Given the description of an element on the screen output the (x, y) to click on. 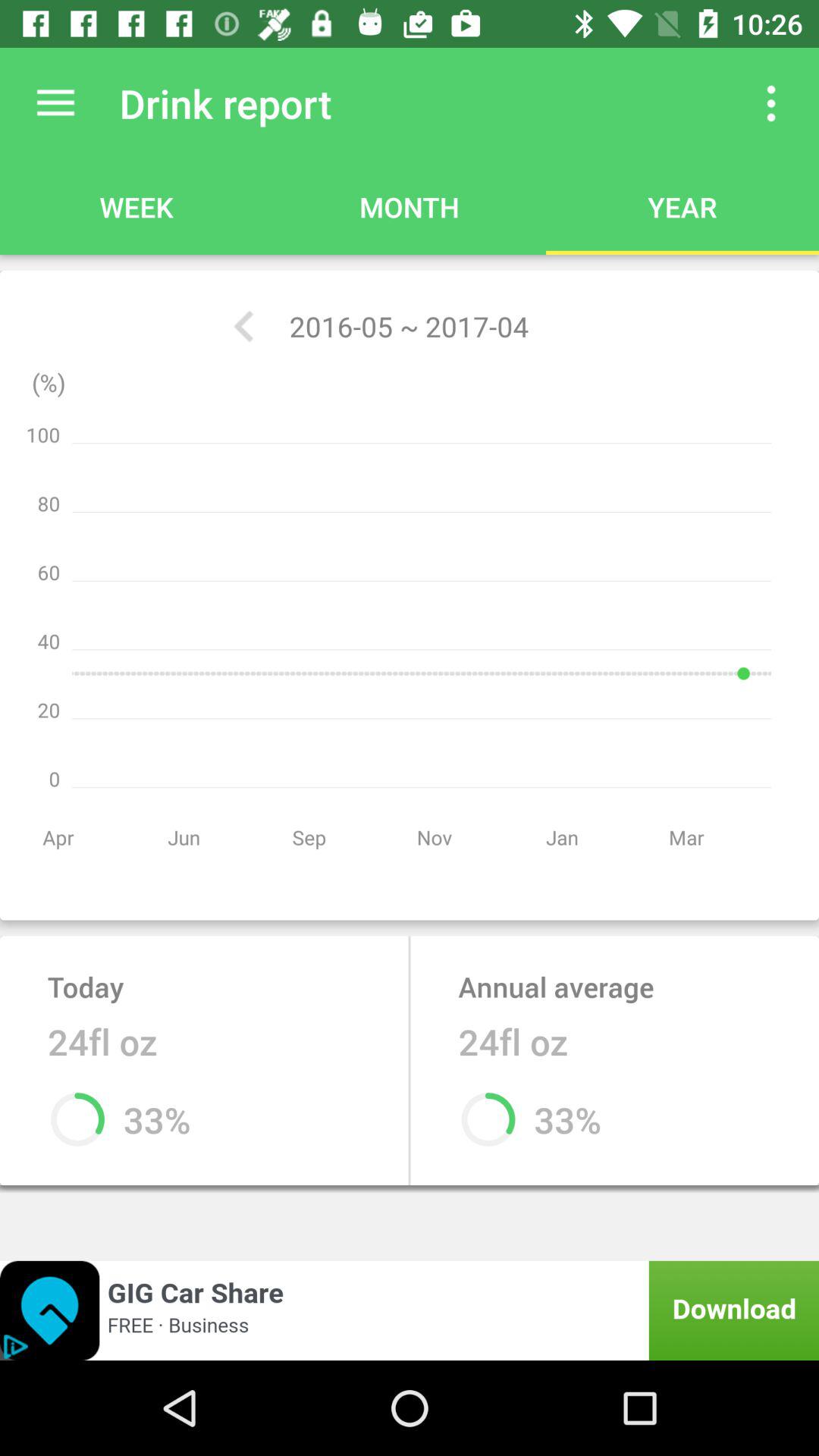
tap the item next to drink report app (55, 103)
